Given the description of an element on the screen output the (x, y) to click on. 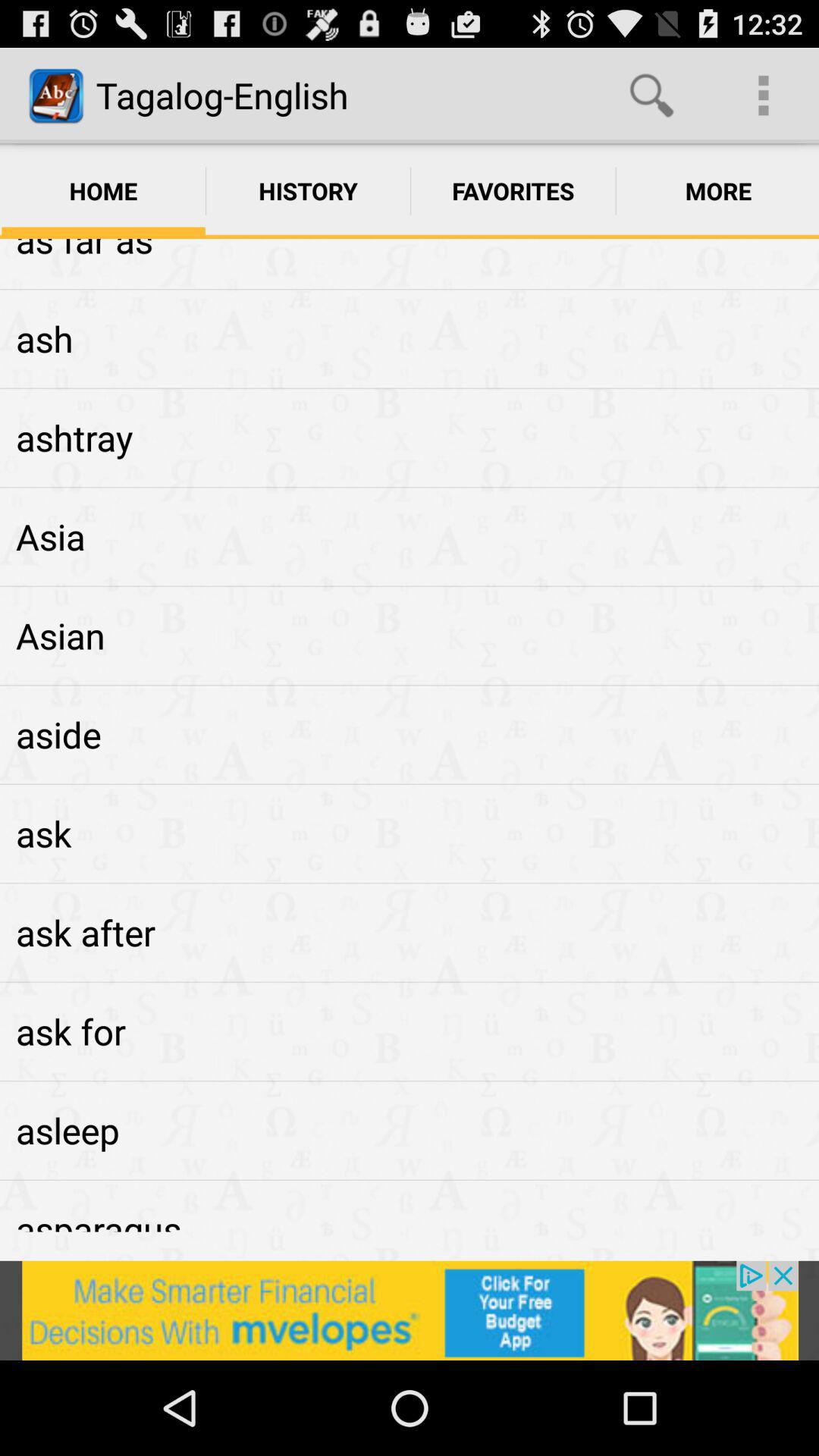
click to view advertisements (409, 1310)
